Given the description of an element on the screen output the (x, y) to click on. 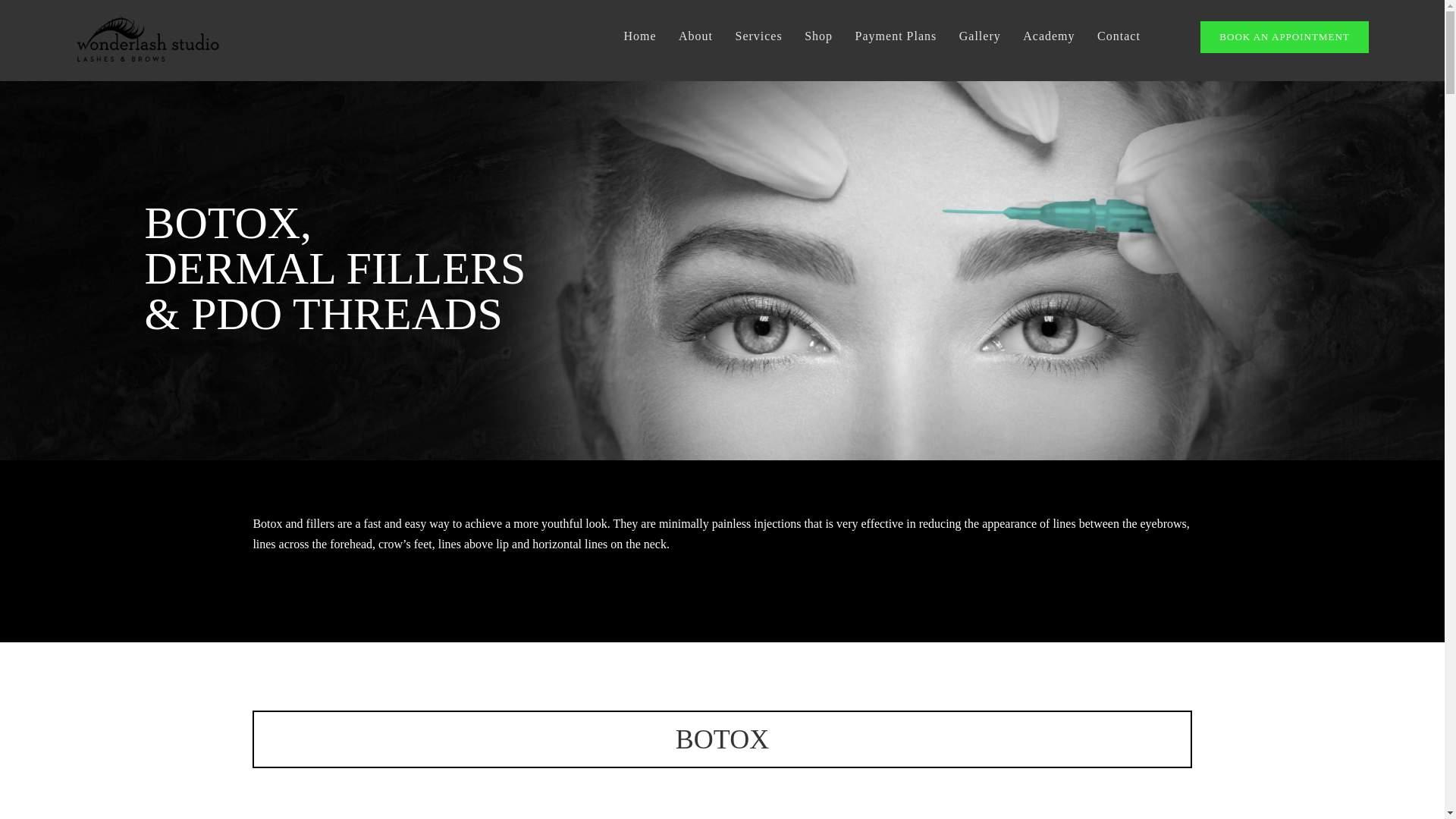
Shop (818, 36)
Gallery (980, 36)
Contact (1118, 36)
Services (758, 36)
Payment Plans (896, 36)
Home (639, 36)
BOOK AN APPOINTMENT (1283, 37)
About (695, 36)
Academy (1048, 36)
